Given the description of an element on the screen output the (x, y) to click on. 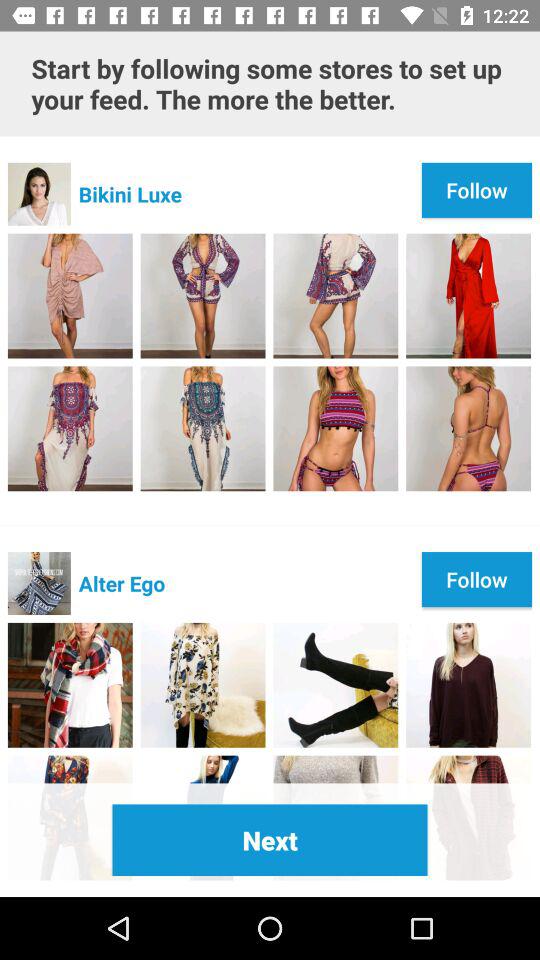
open the start by following (269, 83)
